Given the description of an element on the screen output the (x, y) to click on. 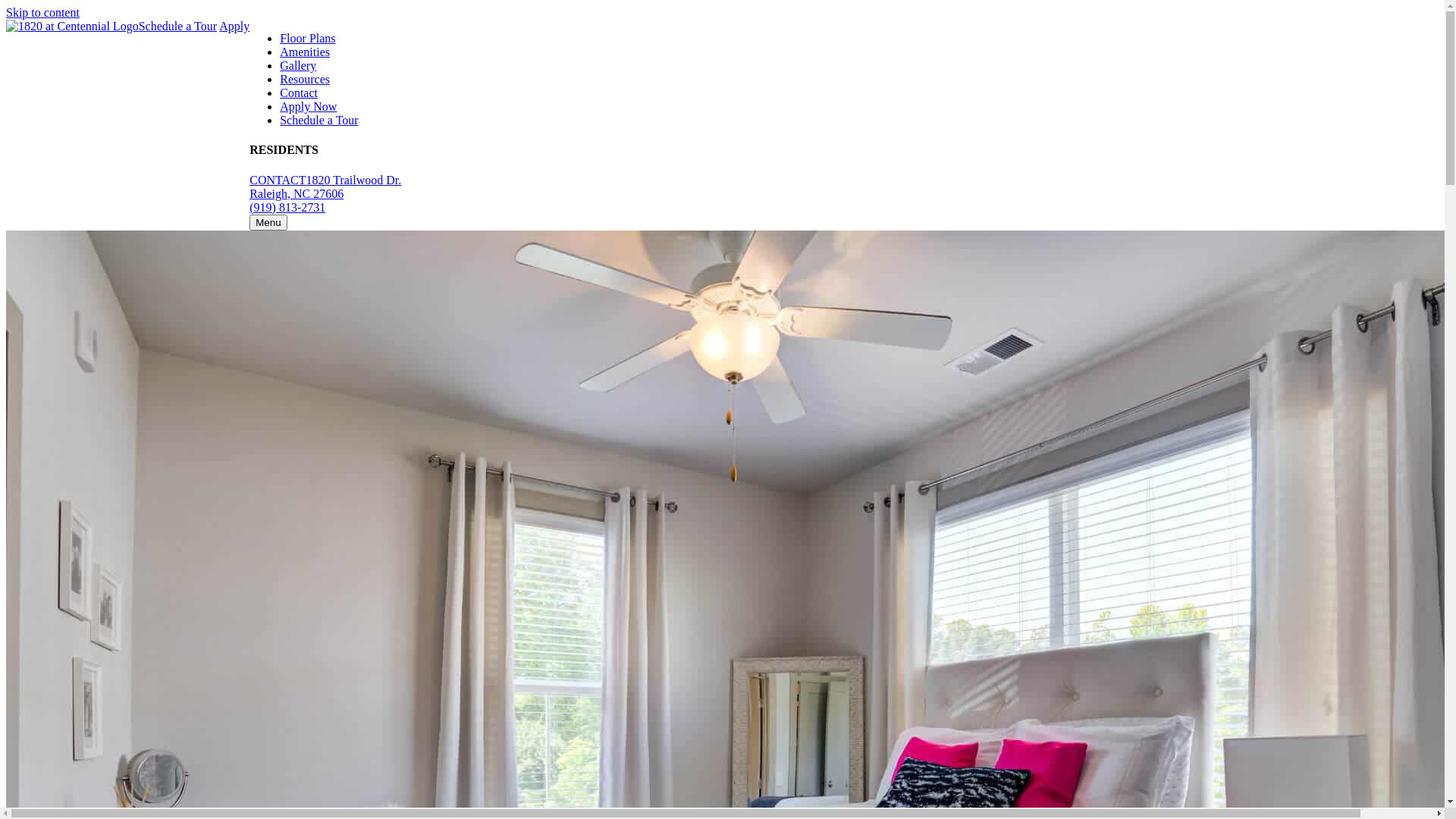
CONTACT Element type: text (277, 179)
Gallery Element type: text (297, 65)
Schedule a Tour Element type: text (177, 25)
Schedule a Tour Element type: text (318, 119)
Skip to content Element type: text (42, 12)
Menu Element type: text (267, 222)
1820 Trailwood Dr.
Raleigh, NC 27606 Element type: text (325, 186)
Apply Element type: text (234, 25)
Amenities Element type: text (304, 51)
Resources Element type: text (304, 78)
(919) 813-2731 Element type: text (287, 206)
Floor Plans Element type: text (307, 37)
Contact Element type: text (298, 92)
Apply Now Element type: text (307, 106)
